Given the description of an element on the screen output the (x, y) to click on. 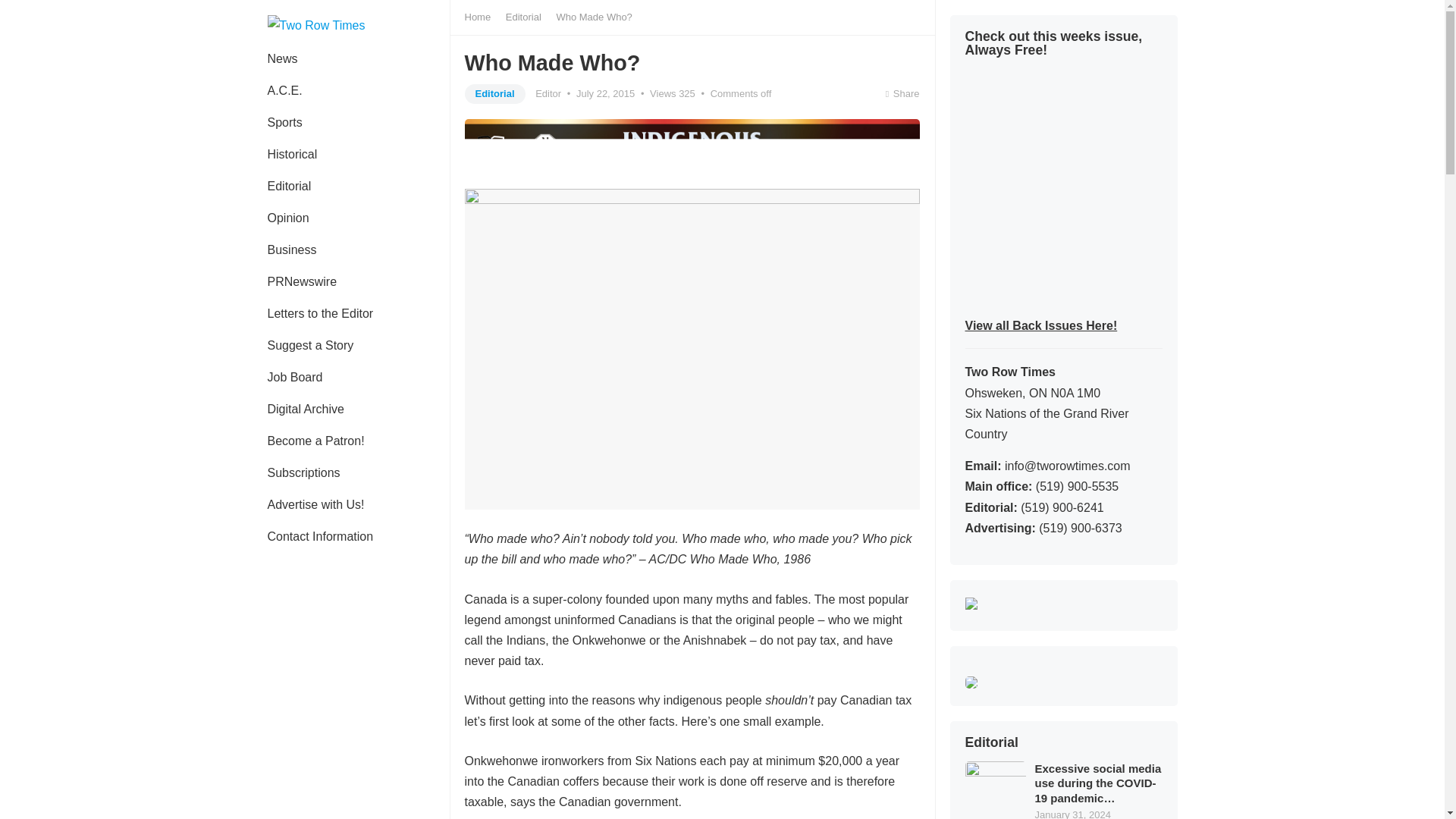
Business (291, 250)
Editorial (288, 186)
Home (482, 16)
PRNewswire (301, 282)
Advertise with Us! (314, 504)
Contact Information (319, 536)
News (282, 59)
Become a Patron! (314, 441)
A.C.E. (284, 91)
Opinion (287, 218)
Job Board (294, 377)
Posts by Editor (547, 93)
Subscriptions (303, 472)
Sports (284, 122)
Letters to the Editor (319, 314)
